Given the description of an element on the screen output the (x, y) to click on. 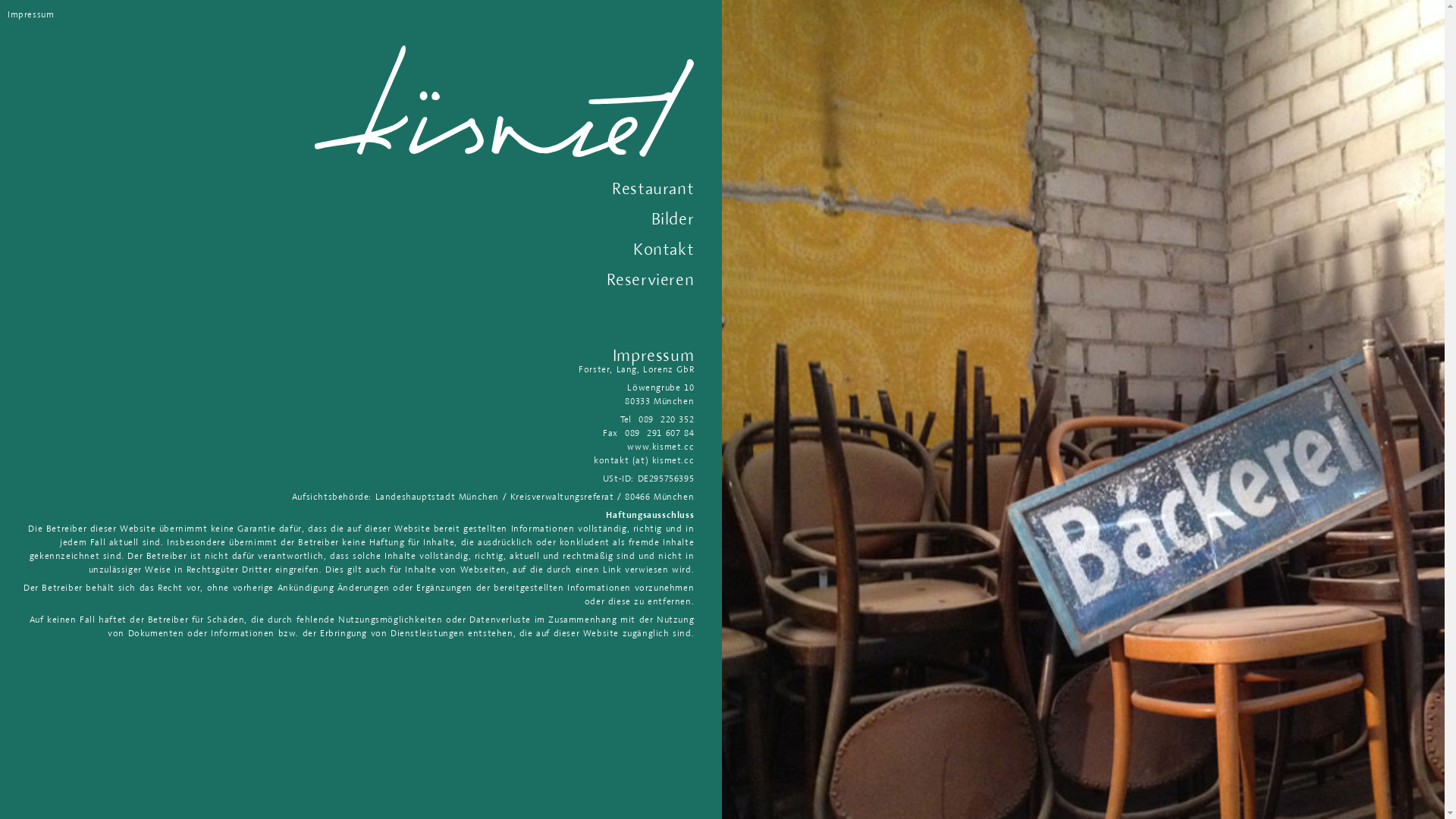
Kontakt Element type: text (663, 248)
Skip to content Element type: text (14, 44)
Impressum Element type: text (30, 14)
Reservieren Element type: text (650, 279)
Bilder Element type: text (672, 218)
Restaurant Element type: text (652, 188)
